Given the description of an element on the screen output the (x, y) to click on. 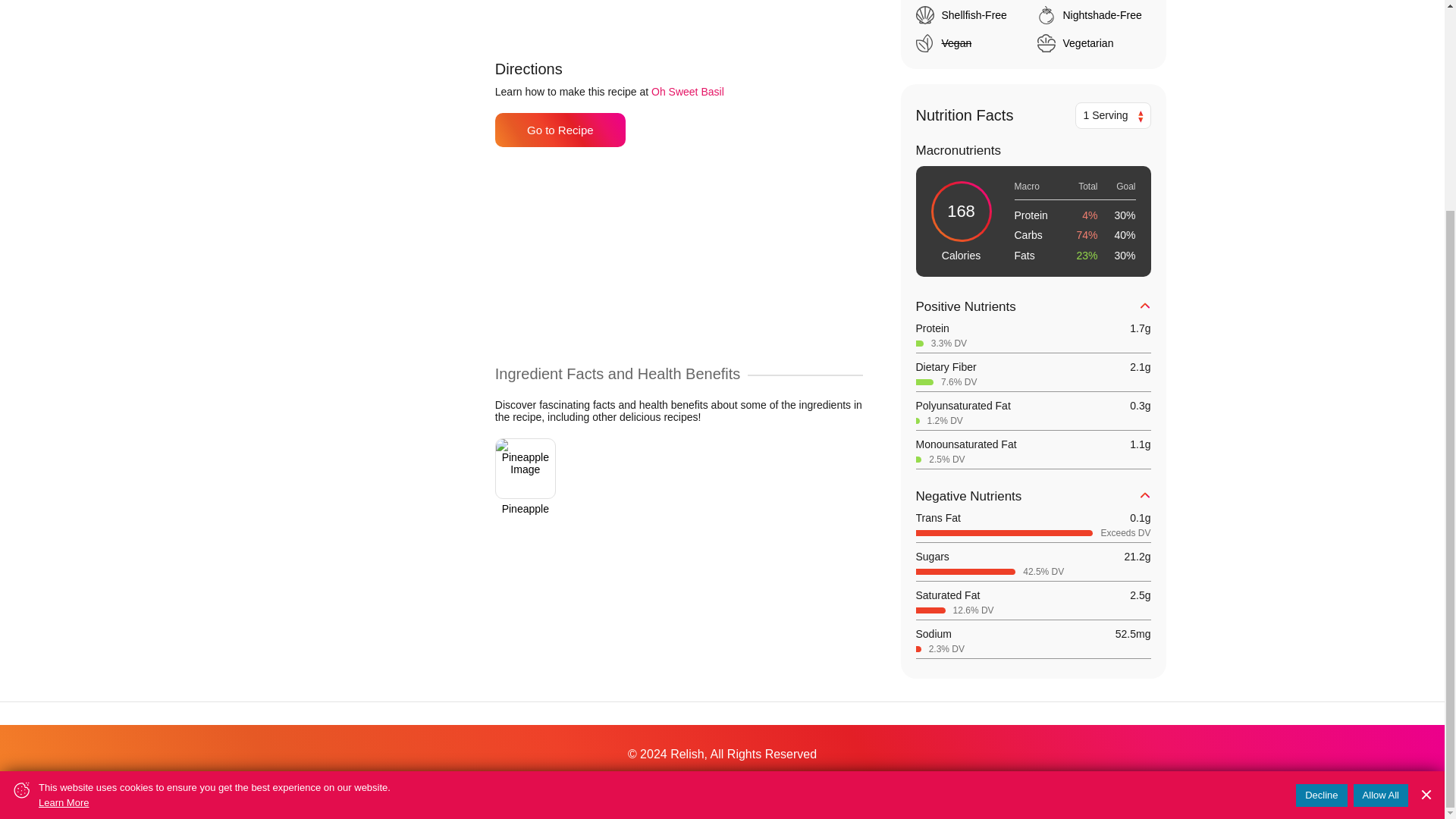
Your California privacy rights (946, 785)
Expand Servings (1139, 116)
Advertise with us (518, 785)
Oh Sweet Basil (686, 91)
About (451, 785)
Terms of service (757, 785)
Our commitment to accessibility (639, 785)
Privacy policy (839, 785)
Dismiss Banner (1425, 521)
Learn More (214, 528)
Go to Recipe (560, 130)
Decline (1320, 521)
Allow All (1380, 521)
